Given the description of an element on the screen output the (x, y) to click on. 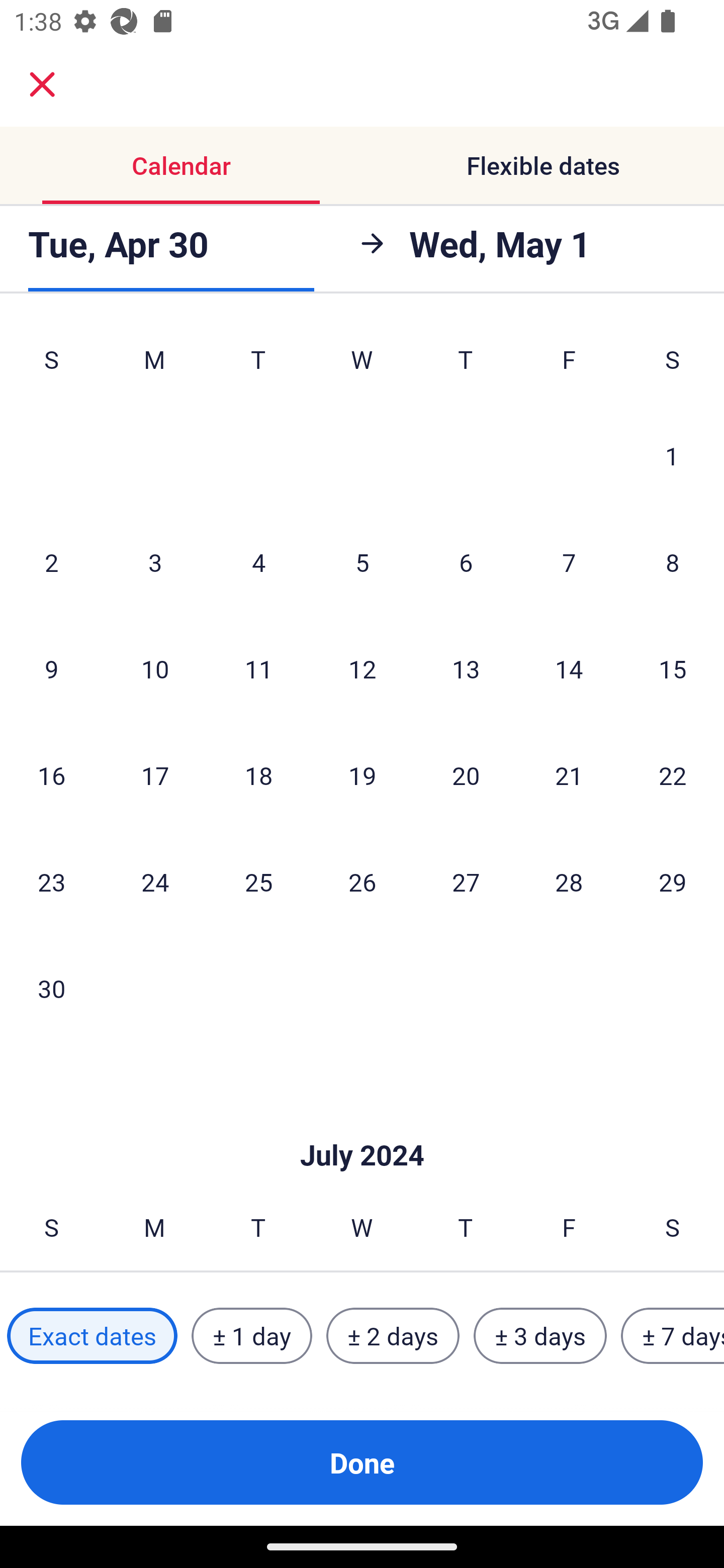
close. (42, 84)
Flexible dates (542, 164)
1 Saturday, June 1, 2024 (672, 455)
2 Sunday, June 2, 2024 (51, 562)
3 Monday, June 3, 2024 (155, 562)
4 Tuesday, June 4, 2024 (258, 562)
5 Wednesday, June 5, 2024 (362, 562)
6 Thursday, June 6, 2024 (465, 562)
7 Friday, June 7, 2024 (569, 562)
8 Saturday, June 8, 2024 (672, 562)
9 Sunday, June 9, 2024 (51, 668)
10 Monday, June 10, 2024 (155, 668)
11 Tuesday, June 11, 2024 (258, 668)
12 Wednesday, June 12, 2024 (362, 668)
13 Thursday, June 13, 2024 (465, 668)
14 Friday, June 14, 2024 (569, 668)
15 Saturday, June 15, 2024 (672, 668)
16 Sunday, June 16, 2024 (51, 775)
17 Monday, June 17, 2024 (155, 775)
18 Tuesday, June 18, 2024 (258, 775)
19 Wednesday, June 19, 2024 (362, 775)
20 Thursday, June 20, 2024 (465, 775)
21 Friday, June 21, 2024 (569, 775)
22 Saturday, June 22, 2024 (672, 775)
23 Sunday, June 23, 2024 (51, 880)
24 Monday, June 24, 2024 (155, 880)
25 Tuesday, June 25, 2024 (258, 880)
26 Wednesday, June 26, 2024 (362, 880)
27 Thursday, June 27, 2024 (465, 880)
28 Friday, June 28, 2024 (569, 880)
29 Saturday, June 29, 2024 (672, 880)
30 Sunday, June 30, 2024 (51, 987)
Skip to Done (362, 1125)
Exact dates (92, 1335)
± 1 day (251, 1335)
± 2 days (392, 1335)
± 3 days (539, 1335)
± 7 days (672, 1335)
Done (361, 1462)
